Given the description of an element on the screen output the (x, y) to click on. 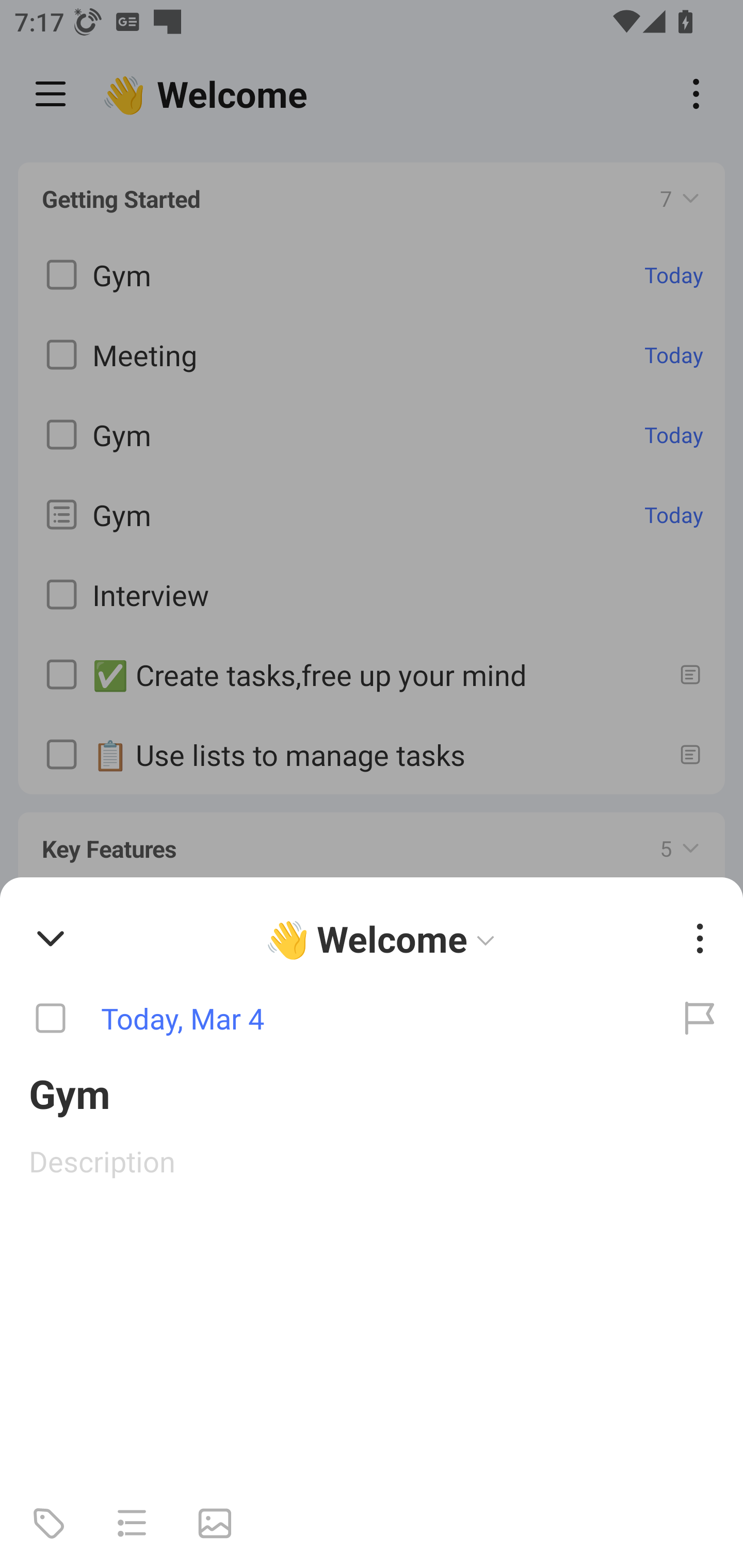
👋 Welcome (384, 938)
Today, Mar 4  (328, 1019)
Gym (371, 1092)
Description (371, 1160)
